Given the description of an element on the screen output the (x, y) to click on. 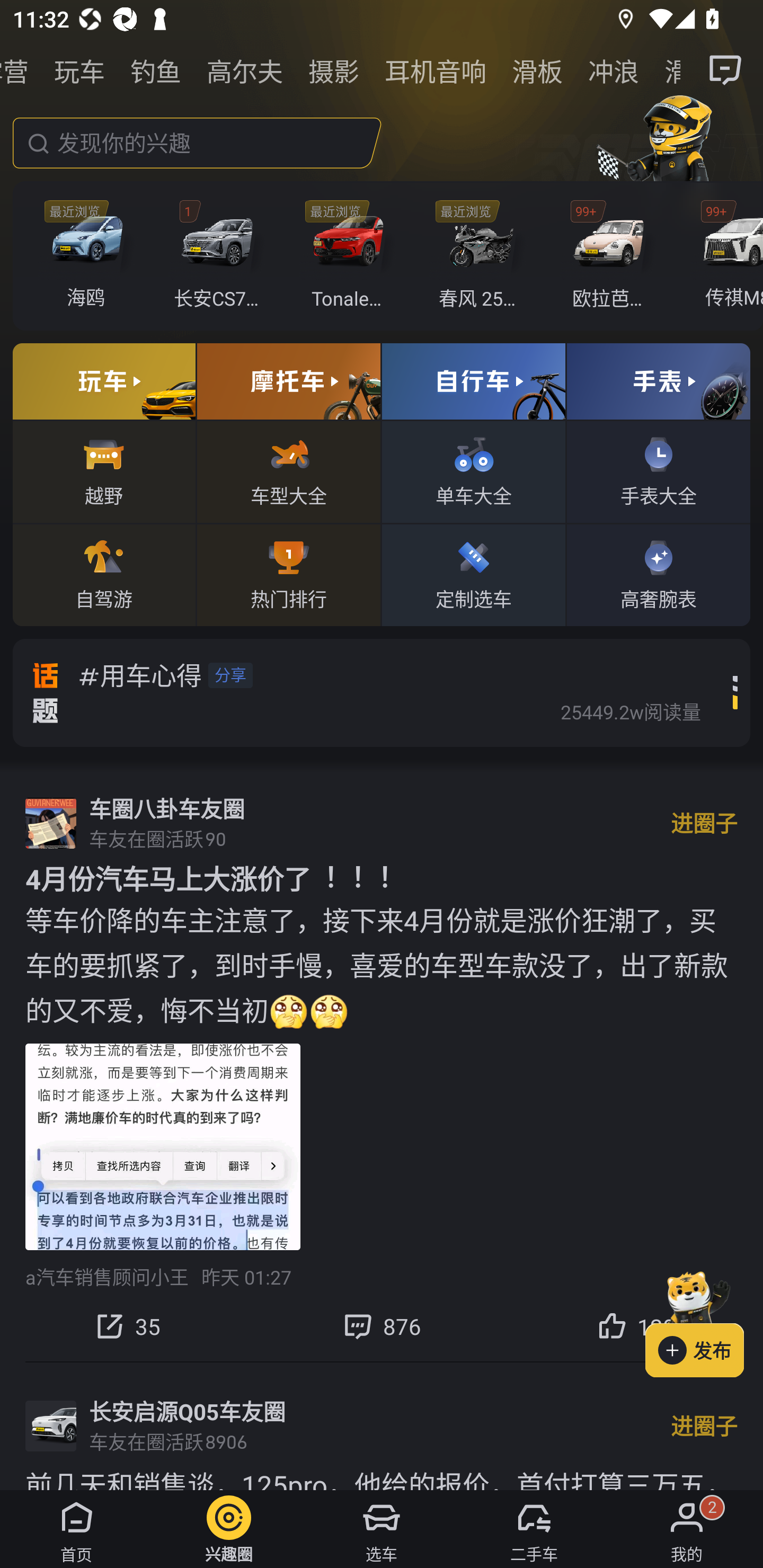
玩车 (79, 69)
钓鱼 (155, 69)
高尔夫 (244, 69)
摄影 (333, 69)
耳机音响 (435, 69)
滑板 (537, 69)
冲浪 (613, 69)
 (726, 69)
海鸥 (90, 256)
1 长安CS75 PLUS (220, 256)
Tonale托纳利 (351, 256)
春风 250SR (481, 256)
99+ 欧拉芭蕾猫 (611, 256)
99+ 传祺M8 (726, 256)
越野 (103, 471)
车型大全 (288, 471)
单车大全 (473, 471)
手表大全 (658, 471)
自驾游 (103, 574)
热门排行 (288, 574)
定制选车 (473, 574)
高奢腕表 (658, 574)
 用车心得 分享 25449.2w阅读量 (381, 692)
 用车心得 分享 25449.2w阅读量 (395, 692)
车圈八卦车友圈 车友在圈活跃 90 进圈子 (381, 822)
发布 (704, 1320)
 35 (127, 1326)
 876 (381, 1326)
120 (635, 1326)
长安启源Q05车友圈 车友在圈活跃 8906 进圈子 (381, 1425)
 首页 (76, 1528)
兴趣圈 (228, 1528)
 选车 (381, 1528)
 二手车 (533, 1528)
 我的 (686, 1528)
